Given the description of an element on the screen output the (x, y) to click on. 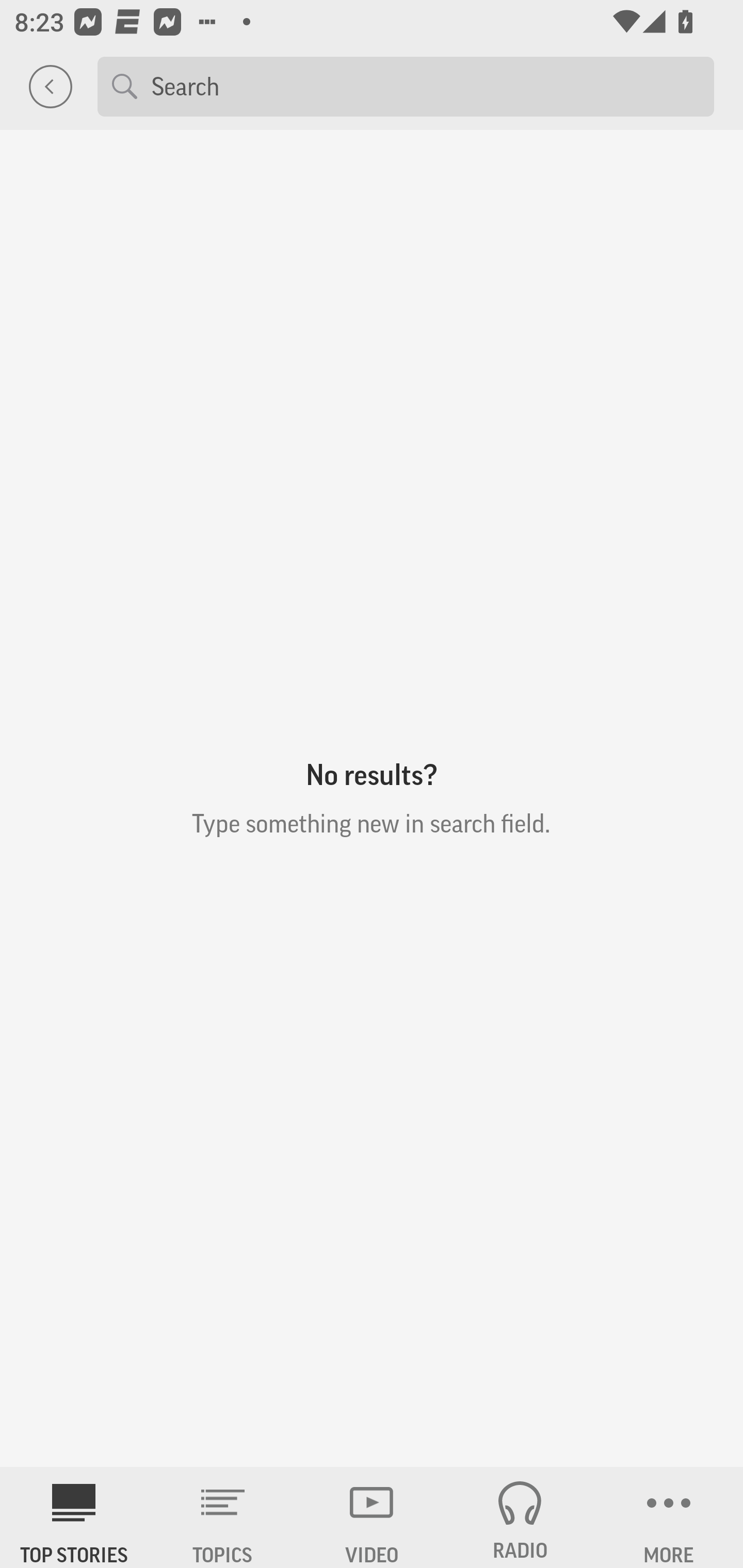
Search (425, 86)
AP News TOP STORIES (74, 1517)
TOPICS (222, 1517)
VIDEO (371, 1517)
RADIO (519, 1517)
MORE (668, 1517)
